Given the description of an element on the screen output the (x, y) to click on. 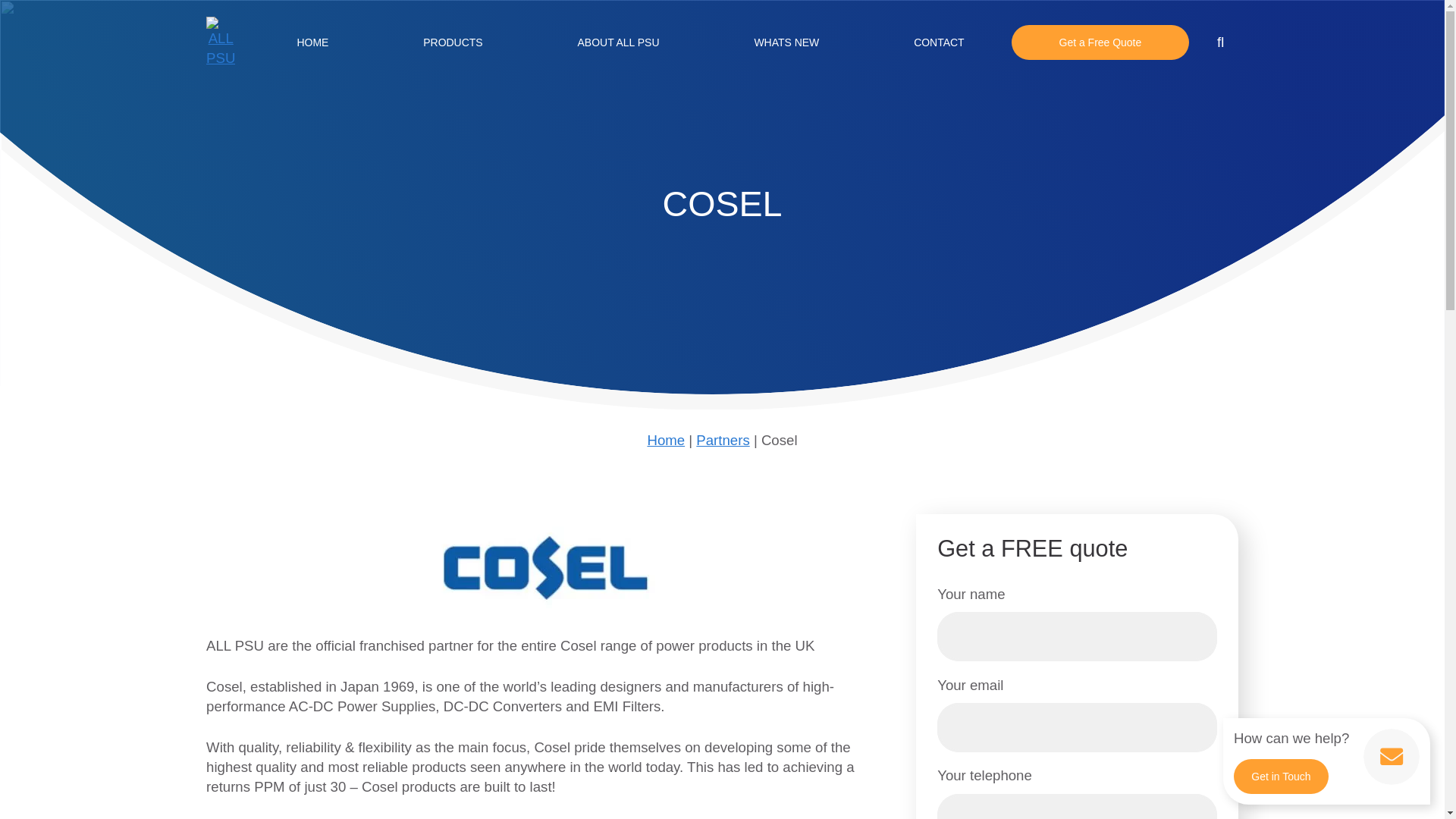
Partners (722, 439)
CONTACT (938, 42)
WHATS NEW (786, 42)
Get a Free Quote (1100, 42)
ABOUT ALL PSU (617, 42)
Home (665, 439)
HOME (311, 42)
Open Search (1220, 42)
PRODUCTS (452, 42)
